Given the description of an element on the screen output the (x, y) to click on. 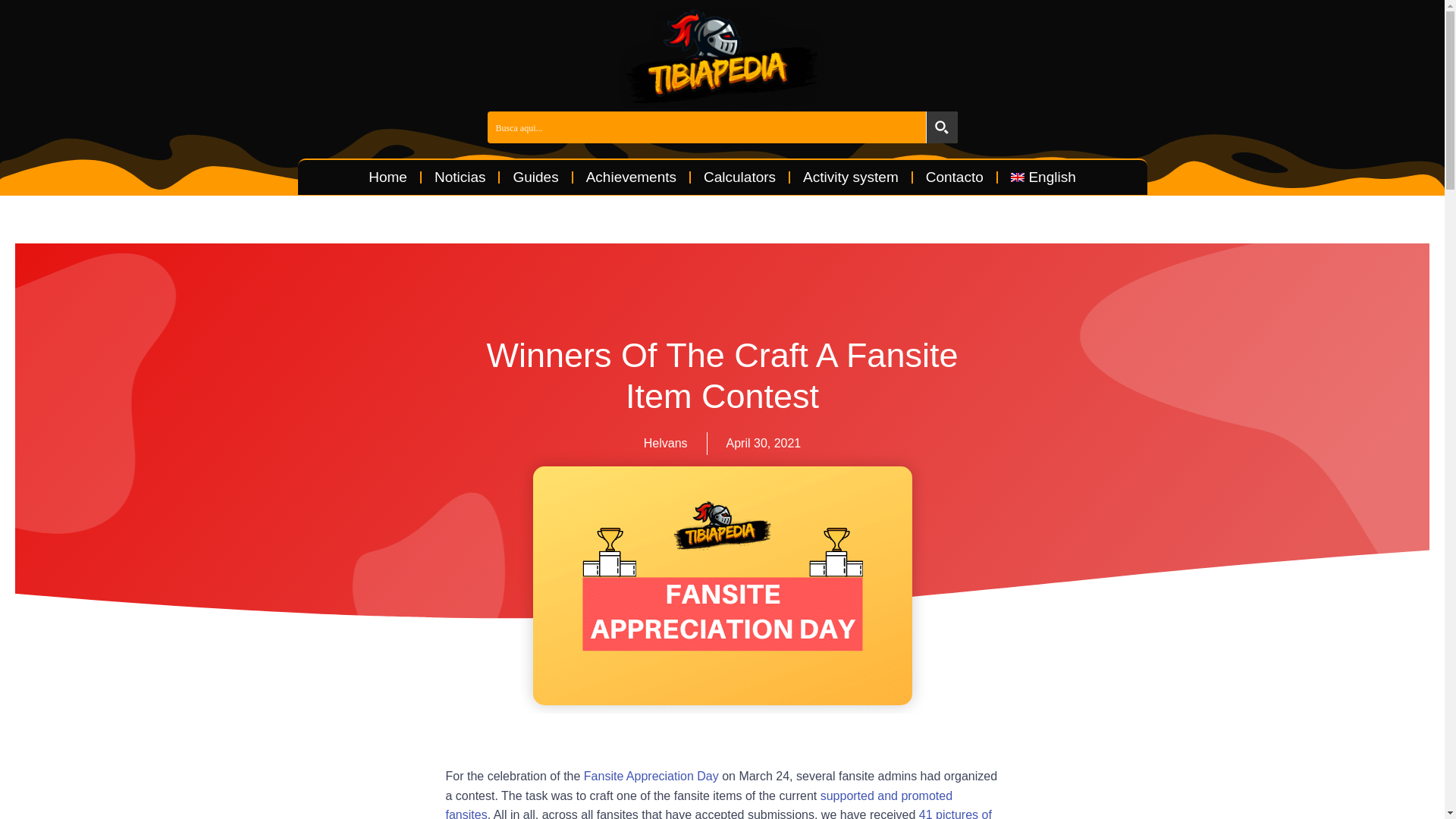
English (1043, 176)
Noticias (460, 176)
Guides (534, 176)
Activity system (850, 176)
Calculators (739, 176)
Home (387, 176)
Achievements (630, 176)
